Given the description of an element on the screen output the (x, y) to click on. 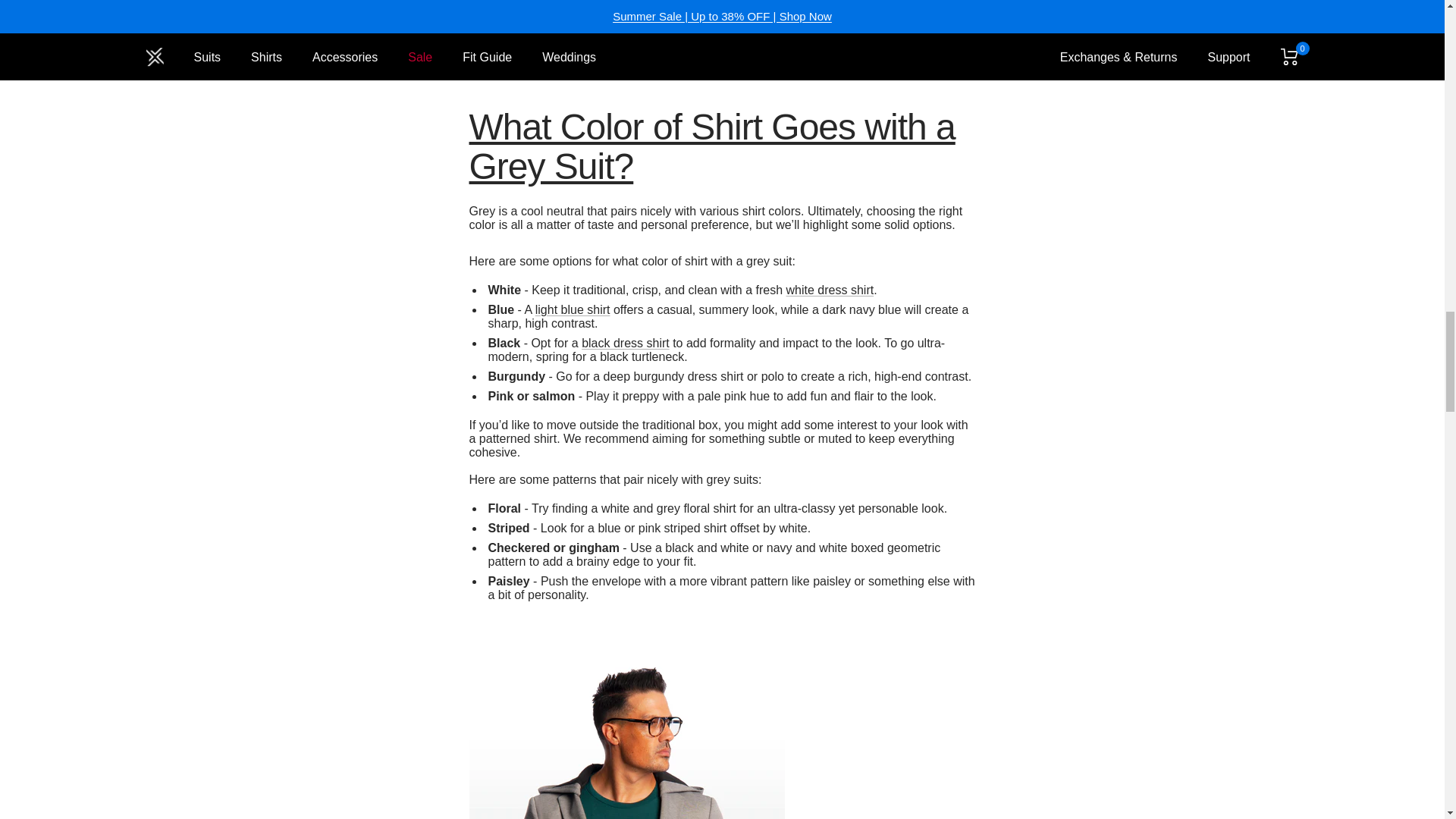
white dress shirt (830, 289)
light blue shirt (572, 309)
black dress shirt (624, 342)
